Given the description of an element on the screen output the (x, y) to click on. 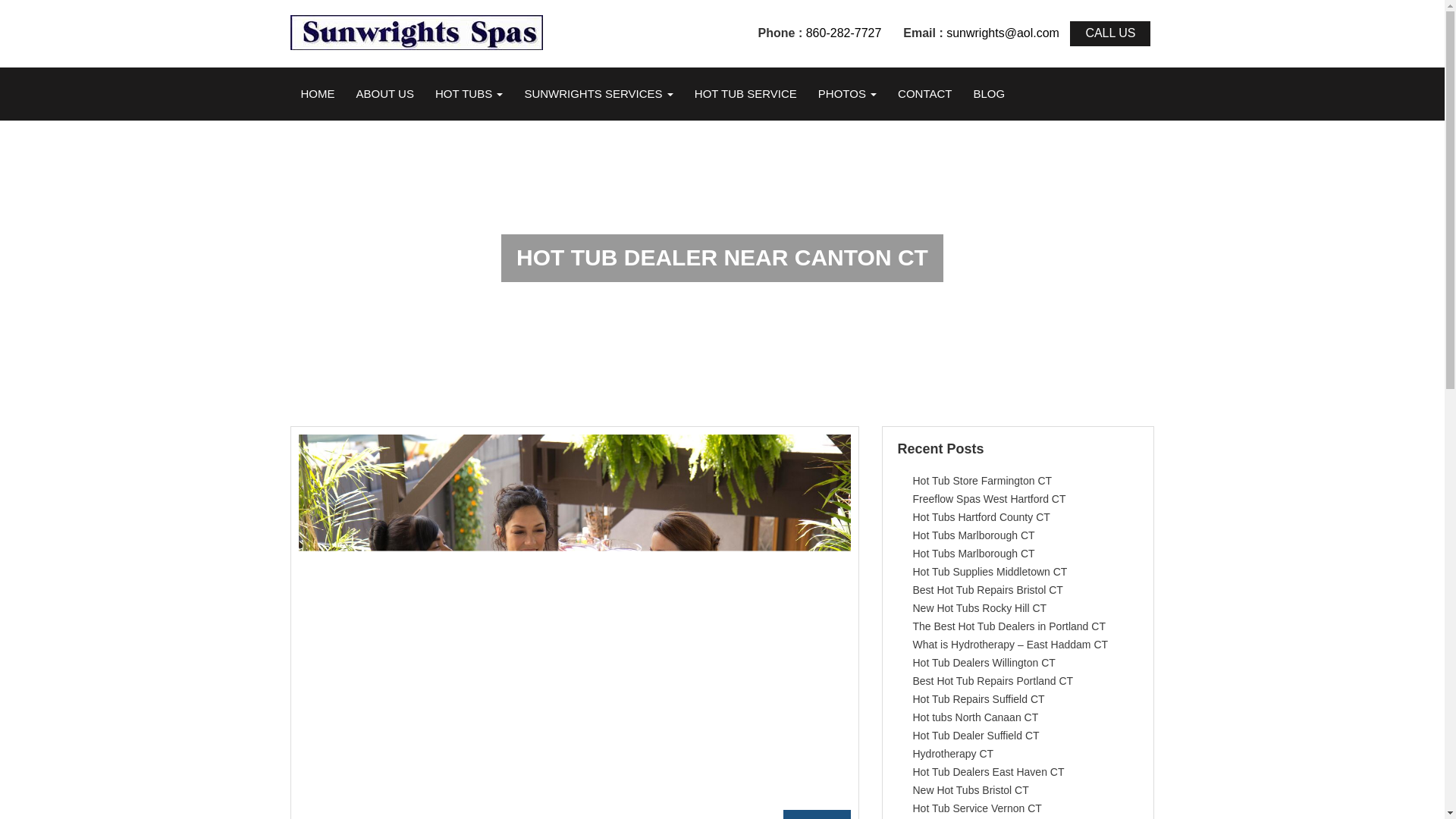
Hot Tubs (469, 93)
Hot Tubs Hartford County CT (980, 517)
Sunwrights Services (597, 93)
Hot Tubs Marlborough CT (973, 535)
Hot Tub Store Farmington CT (982, 480)
BLOG (988, 93)
Home (317, 93)
Contact (924, 93)
HOT TUBS (469, 93)
CALL US (1110, 33)
